Given the description of an element on the screen output the (x, y) to click on. 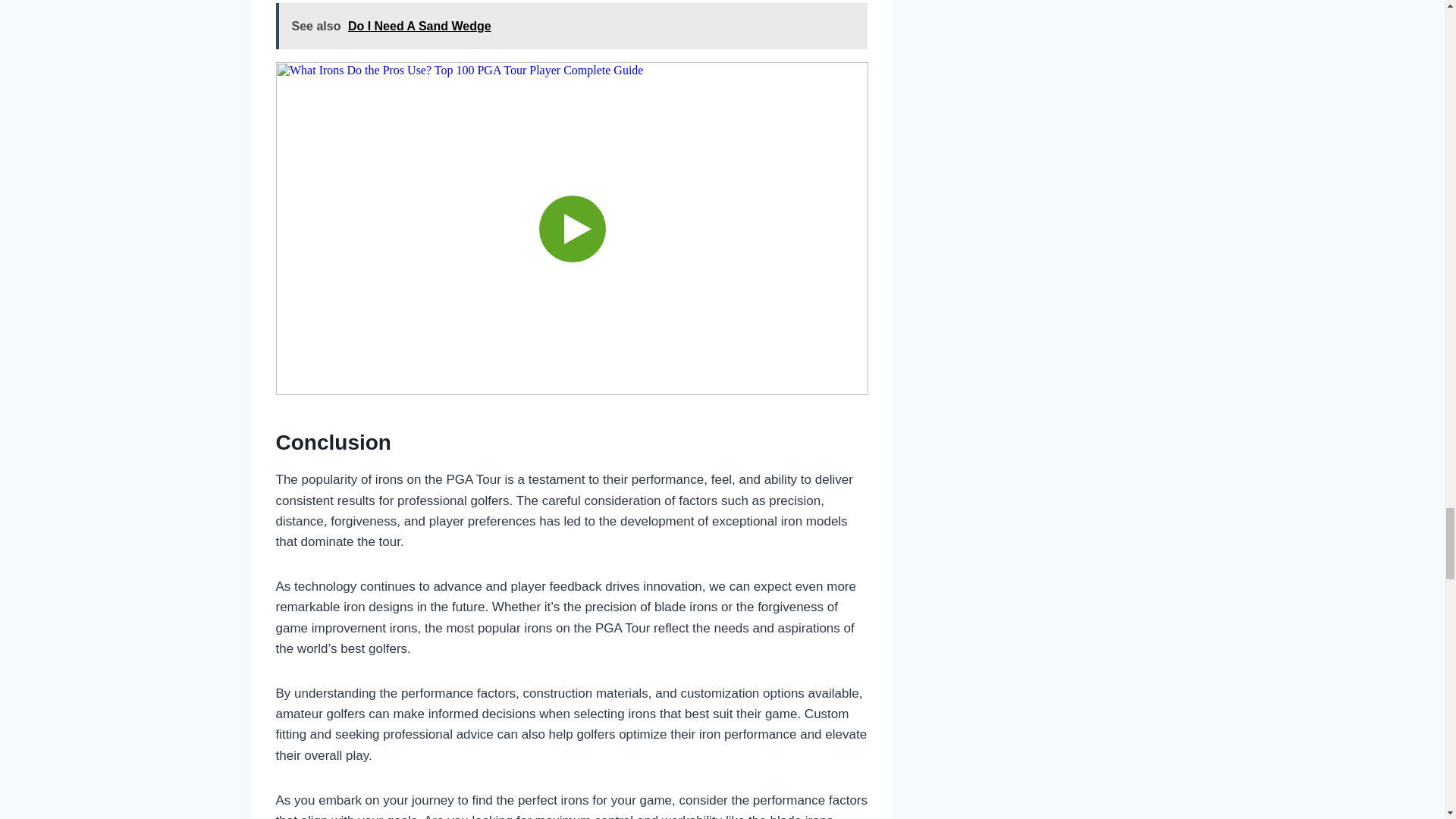
See also  Do I Need A Sand Wedge (571, 26)
